Given the description of an element on the screen output the (x, y) to click on. 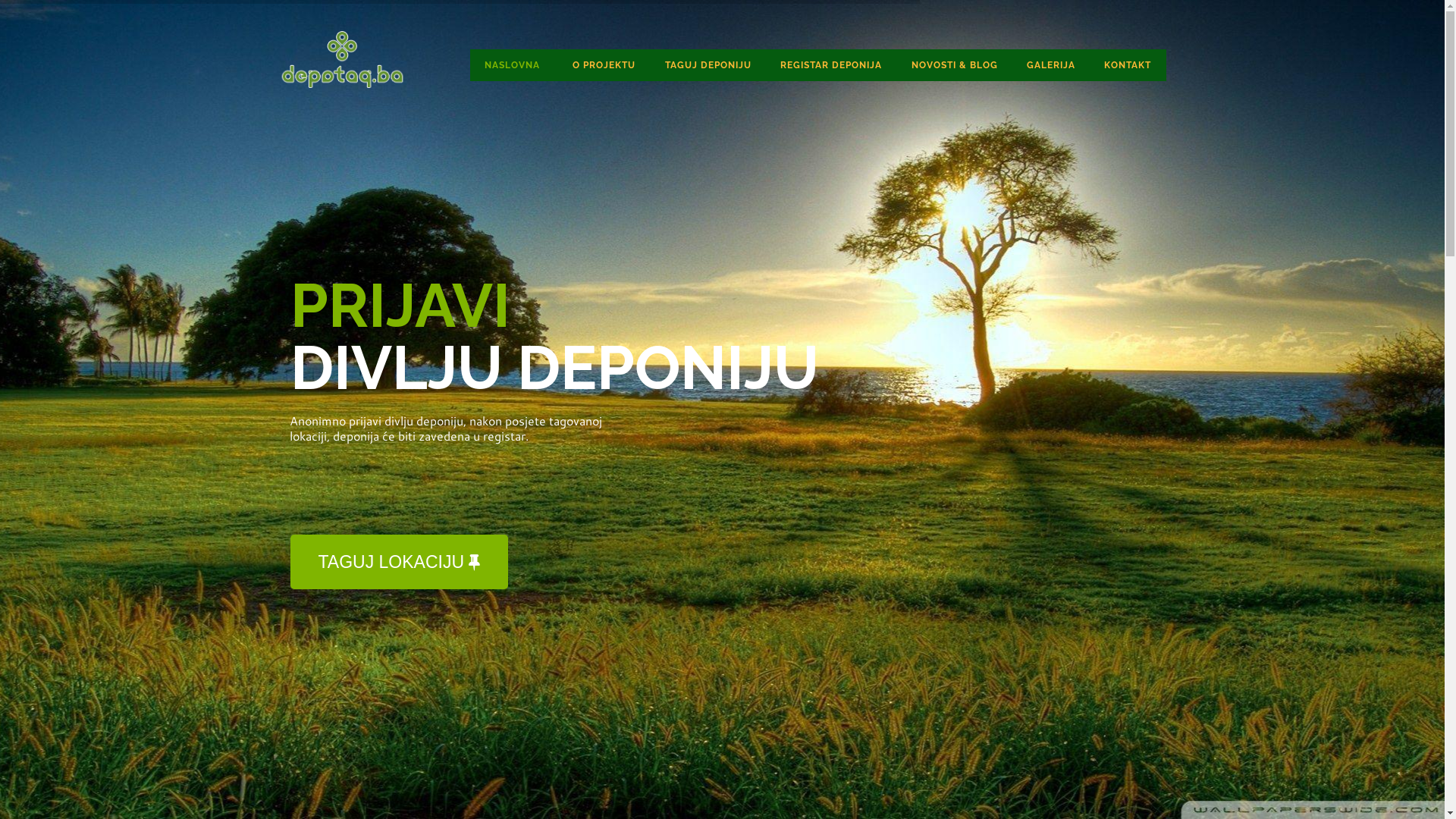
TAGUJ LOKACIJU Element type: text (398, 561)
TAGUJ DEPONIJU Element type: text (707, 65)
NOVOSTI & BLOG Element type: text (953, 65)
GALERIJA Element type: text (1050, 65)
KONTAKT Element type: text (1127, 65)
O PROJEKTU Element type: text (603, 65)
NASLOVNA Element type: text (514, 65)
REGISTAR DEPONIJA Element type: text (830, 65)
